Given the description of an element on the screen output the (x, y) to click on. 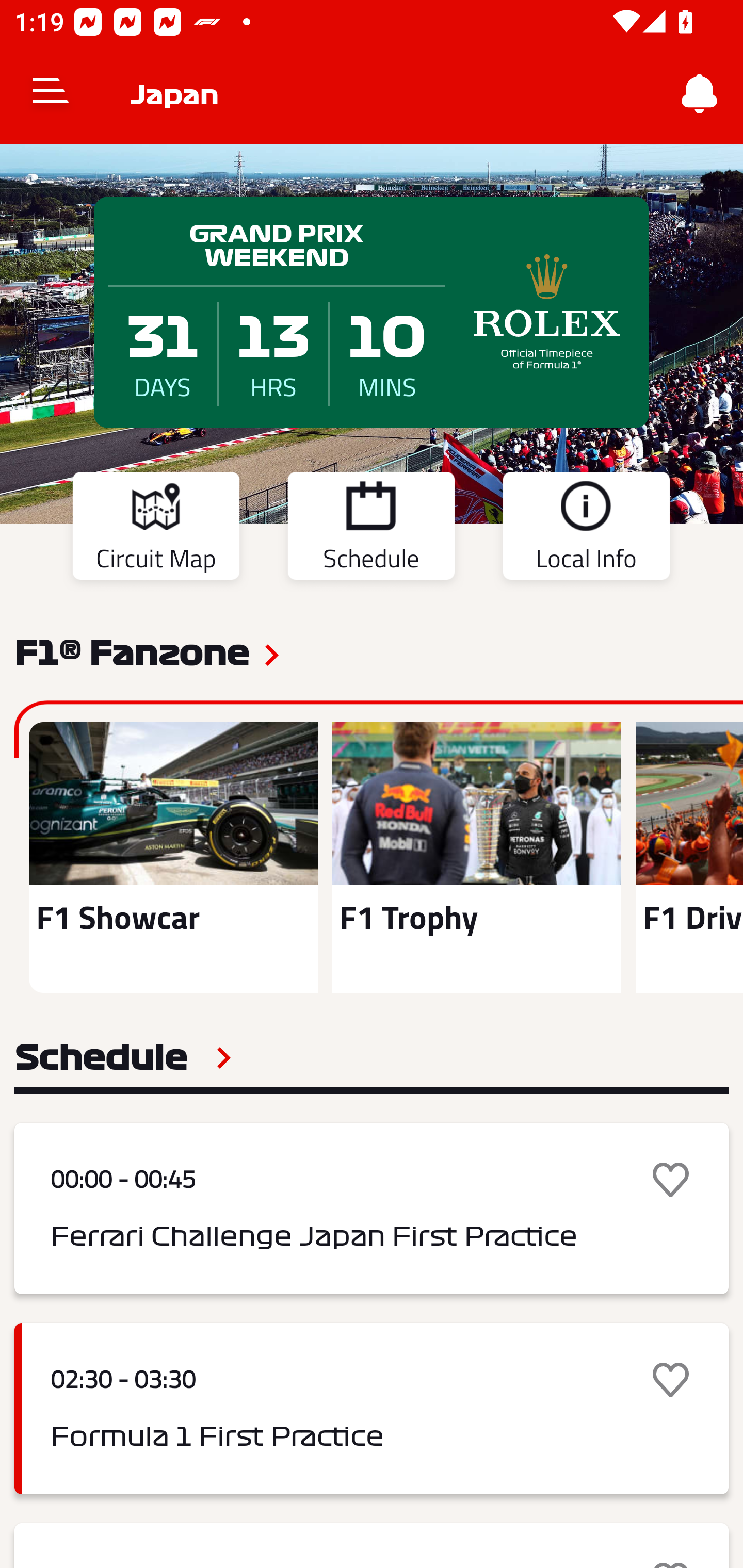
Navigate up (50, 93)
Notifications (699, 93)
Circuit Map (155, 528)
Schedule (370, 528)
Local Info (586, 528)
F1® Fanzone (131, 651)
F1 Showcar (173, 857)
F1 Trophy (476, 857)
Schedule (122, 1057)
02:30 - 03:30 Formula 1 First Practice (371, 1408)
